Given the description of an element on the screen output the (x, y) to click on. 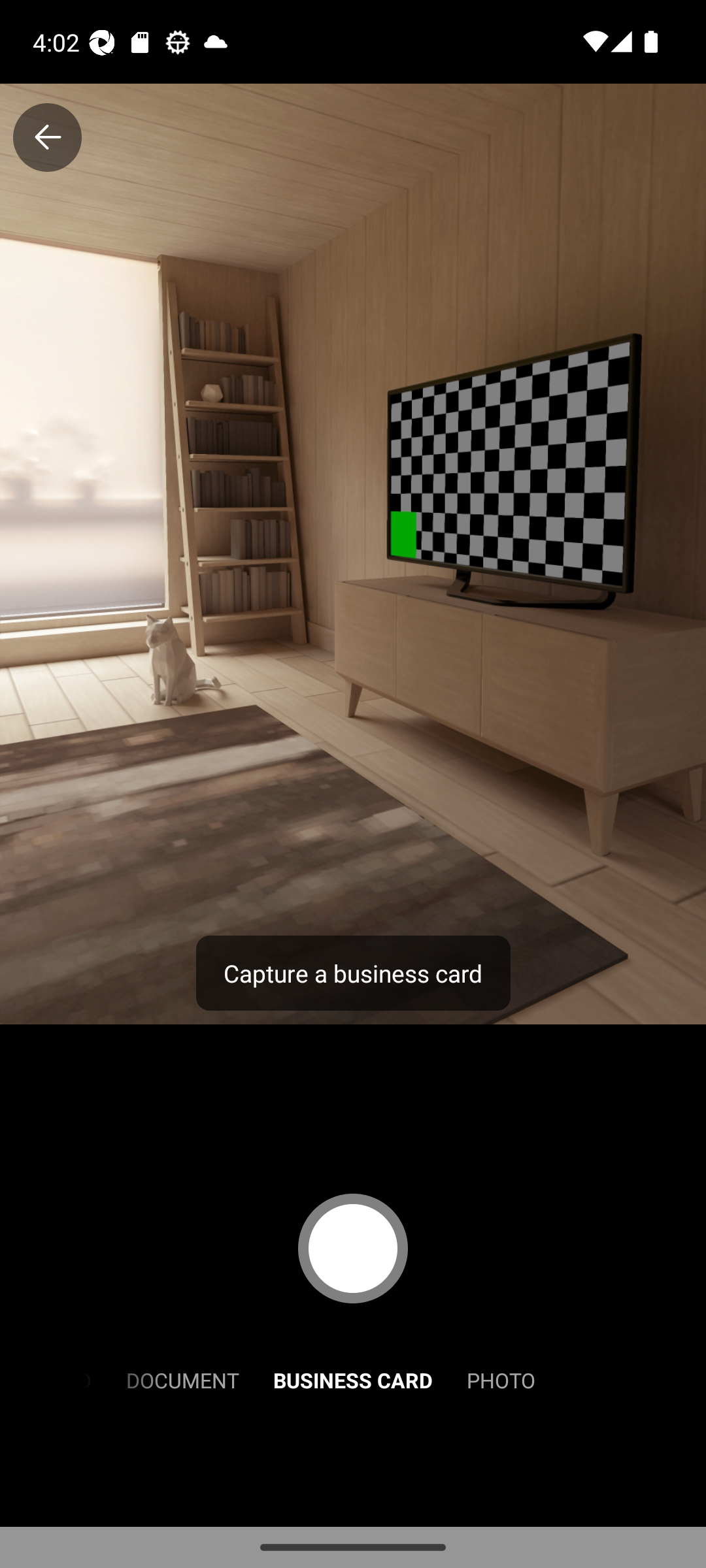
Close (47, 137)
Capture (352, 1248)
DOCUMENT (182, 1379)
BUSINESS CARD (352, 1379)
PHOTO (501, 1379)
